Given the description of an element on the screen output the (x, y) to click on. 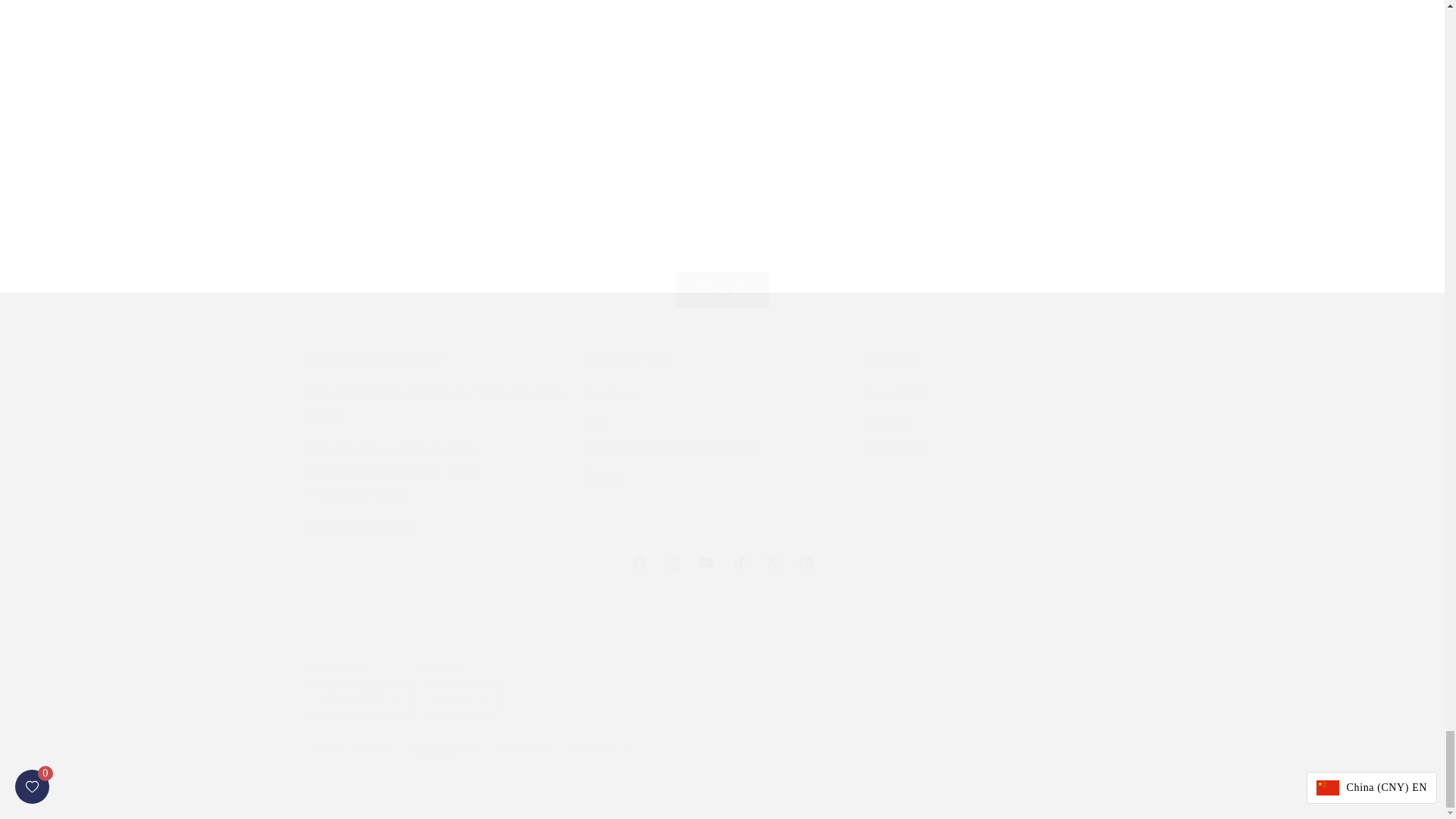
View all (721, 270)
